Given the description of an element on the screen output the (x, y) to click on. 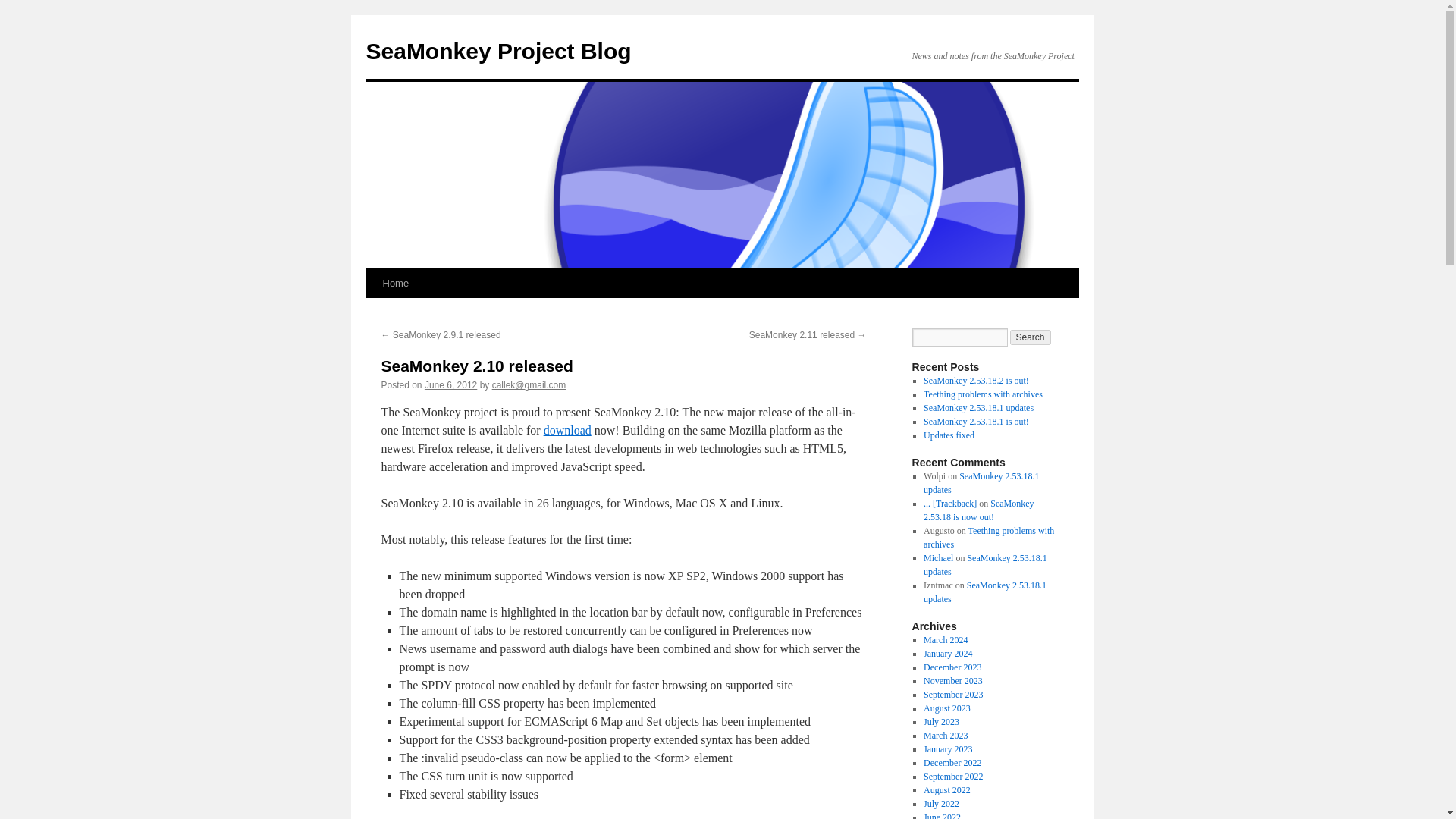
August 2023 (947, 707)
SeaMonkey 2.53.18.1 updates (984, 564)
Teething problems with archives (988, 537)
SeaMonkey 2.53.18.1 updates (981, 482)
download (567, 430)
Search (1030, 337)
March 2024 (945, 639)
SeaMonkey 2.53.18 is now out! (978, 509)
January 2023 (947, 748)
November 2023 (952, 680)
SeaMonkey Project Blog (497, 50)
Teething problems with archives (982, 394)
SeaMonkey 2.53.18.2 is out! (976, 380)
December 2023 (952, 666)
Home (395, 283)
